Given the description of an element on the screen output the (x, y) to click on. 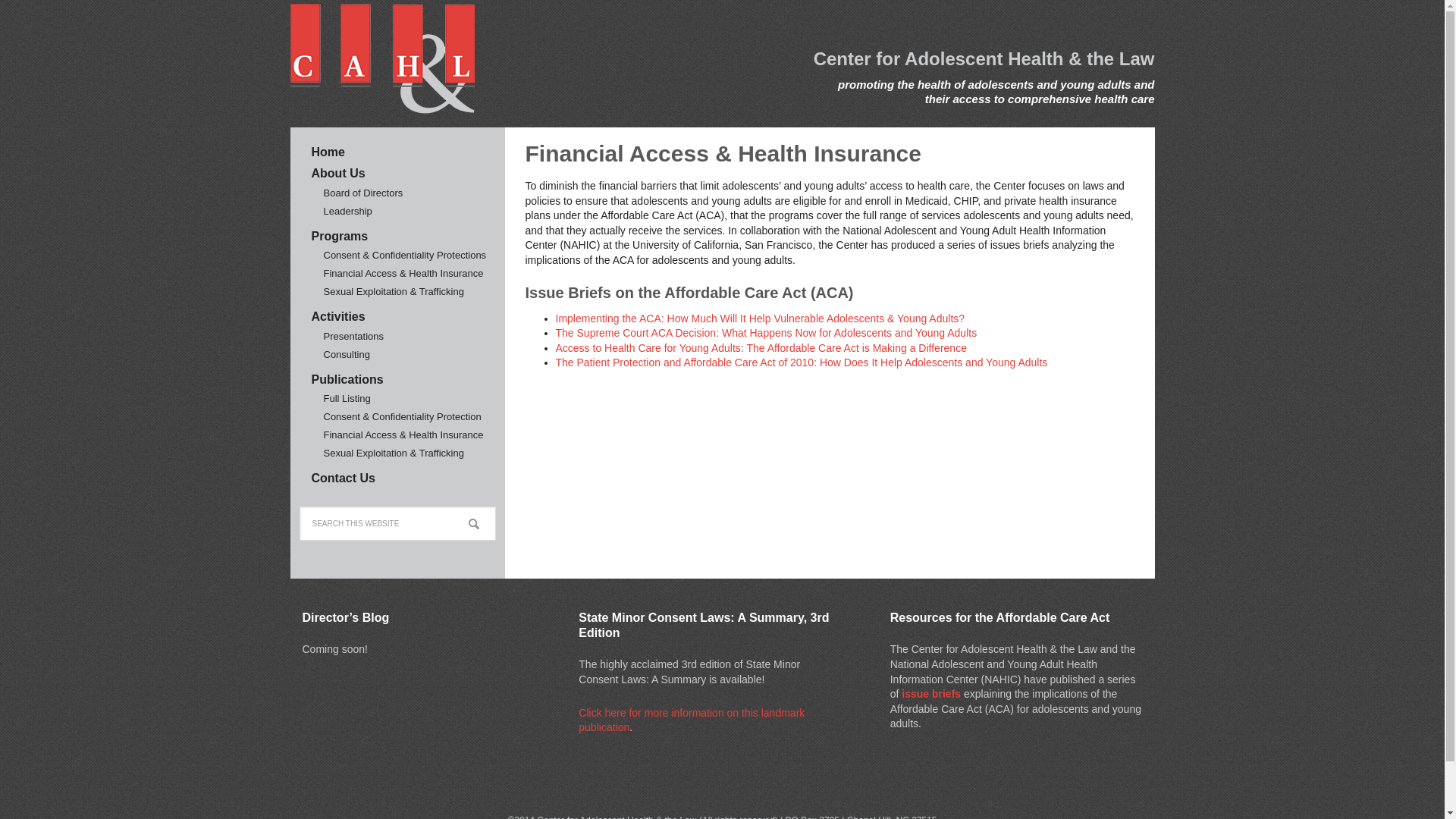
Click here for more information on this landmark publication (691, 719)
About Us (338, 173)
Programs (339, 236)
Publications (346, 379)
Presentations (353, 336)
Home (327, 151)
Leadership (347, 211)
Activities (338, 316)
